Given the description of an element on the screen output the (x, y) to click on. 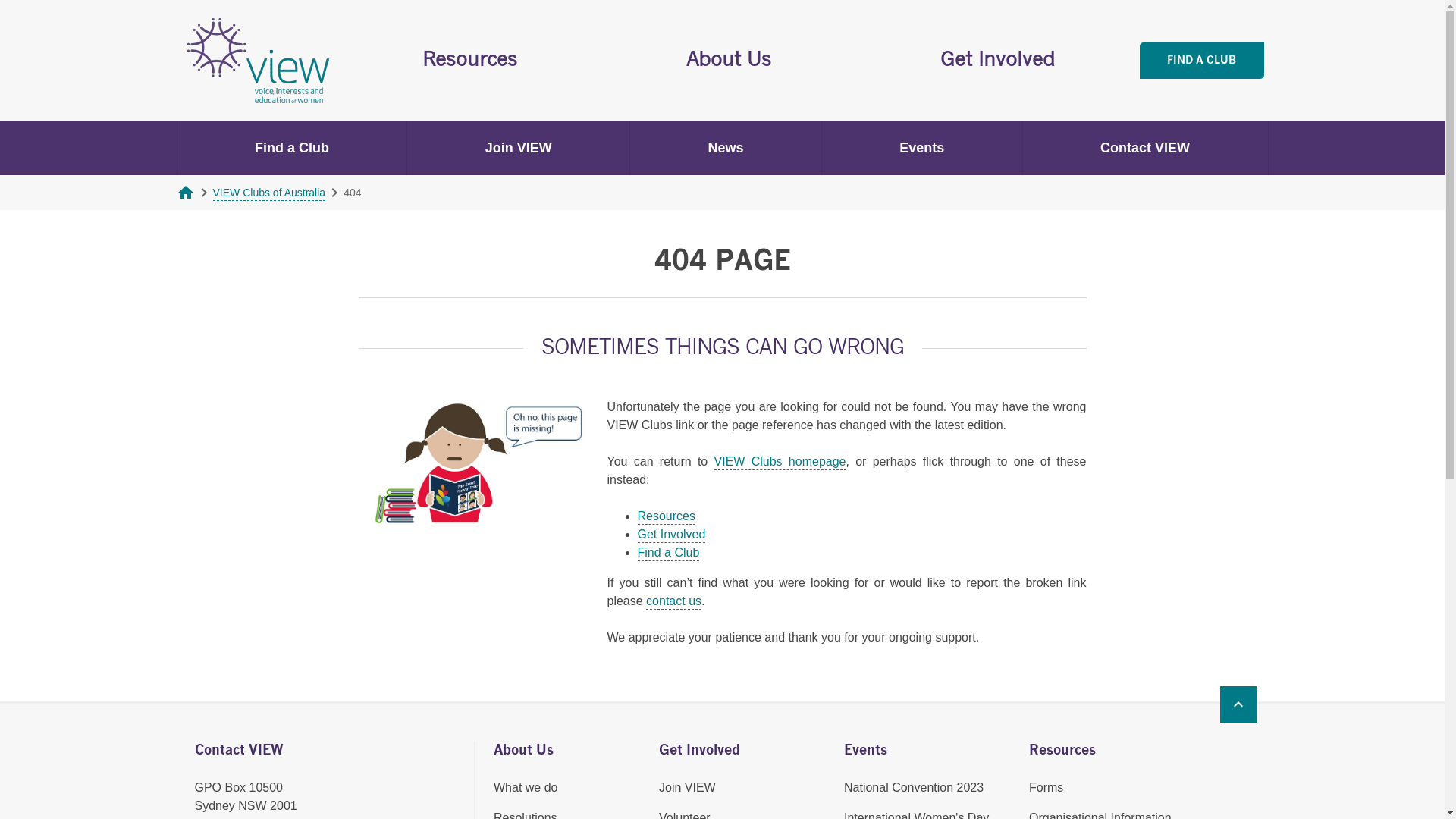
VIEW Clubs homepage Element type: text (780, 462)
FIND A CLUB Element type: text (1201, 60)
National Convention 2023 Element type: text (927, 787)
Get Involved Element type: text (671, 534)
Join VIEW Element type: text (741, 787)
Forms Element type: text (1112, 787)
home Element type: text (184, 197)
Contact VIEW Element type: text (1144, 148)
Find a Club Element type: text (292, 148)
Skip to main content Element type: text (0, 0)
Resources Element type: text (665, 516)
contact us Element type: text (673, 601)
Get Involved Element type: text (997, 60)
What we do Element type: text (566, 787)
Resources Element type: text (470, 60)
Join VIEW Element type: text (518, 148)
About Us Element type: text (729, 60)
VIEW Clubs of Australia Element type: text (268, 193)
Find a Club Element type: text (668, 553)
Events Element type: text (922, 148)
News Element type: text (725, 148)
